Given the description of an element on the screen output the (x, y) to click on. 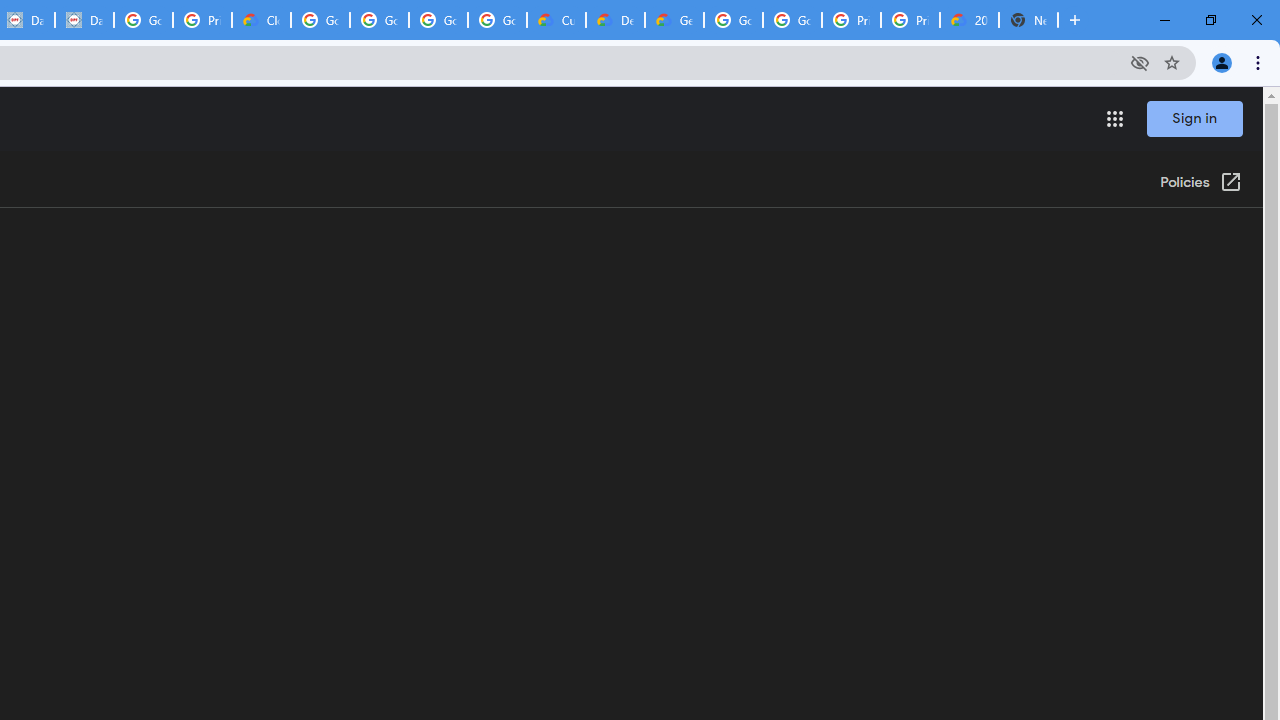
New Tab (1028, 20)
Gemini for Business and Developers | Google Cloud (674, 20)
Google Cloud Platform (733, 20)
